Given the description of an element on the screen output the (x, y) to click on. 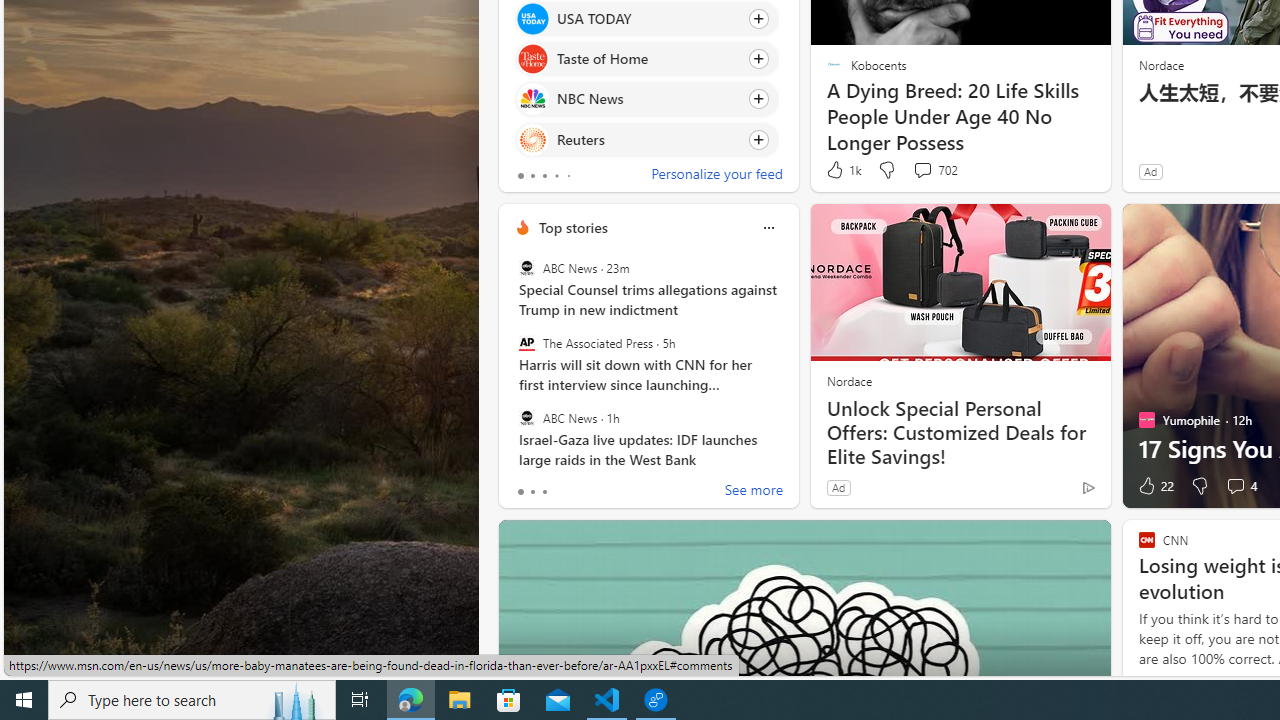
1k Like (842, 170)
22 Like (1154, 485)
Taste of Home (532, 59)
